Given the description of an element on the screen output the (x, y) to click on. 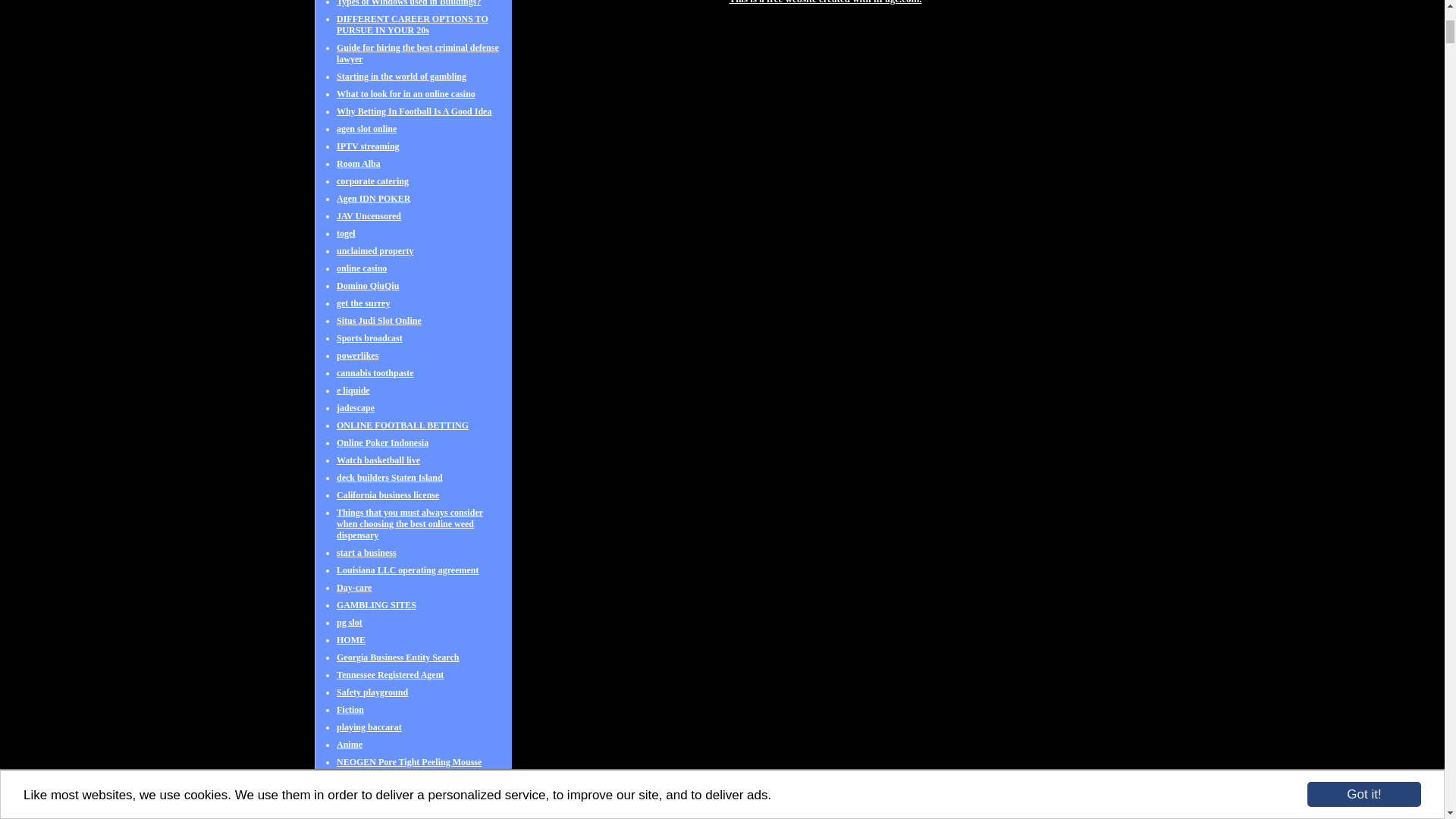
Got it! (1364, 34)
